Given the description of an element on the screen output the (x, y) to click on. 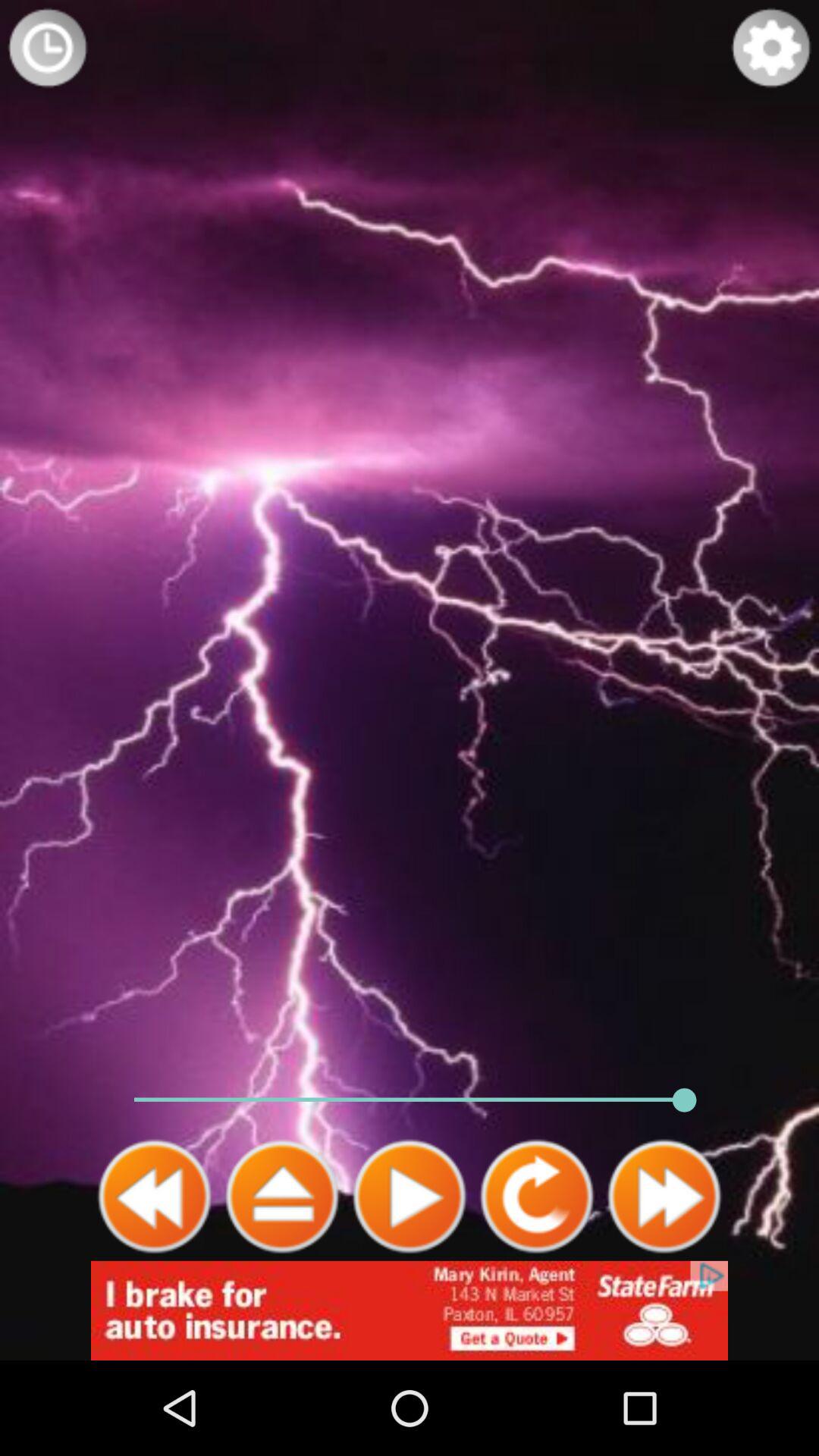
pause (281, 1196)
